Given the description of an element on the screen output the (x, y) to click on. 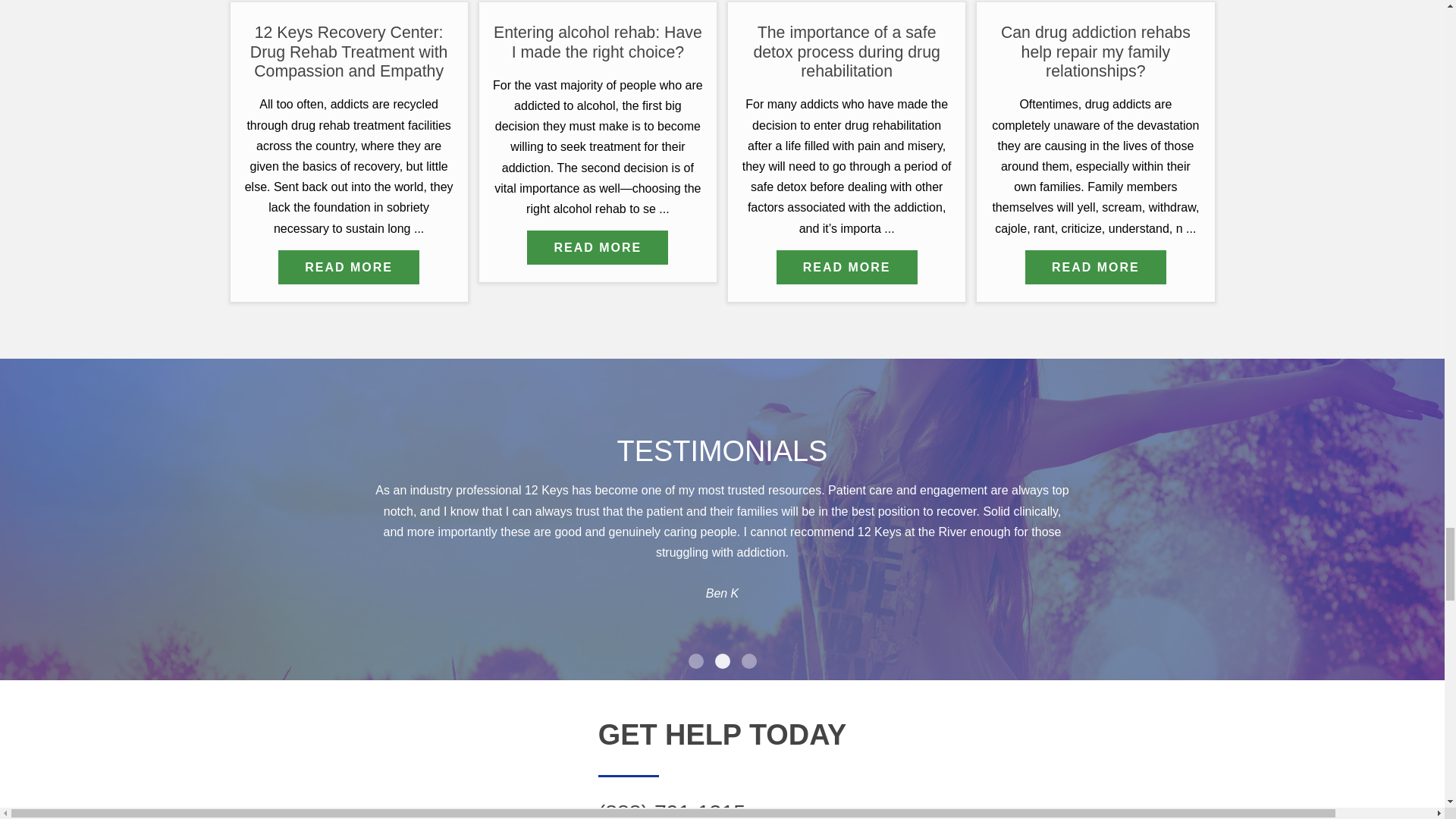
Entering alcohol rehab: Have I made the right choice? (597, 247)
Entering alcohol rehab: Have I made the right choice? (598, 42)
